Given the description of an element on the screen output the (x, y) to click on. 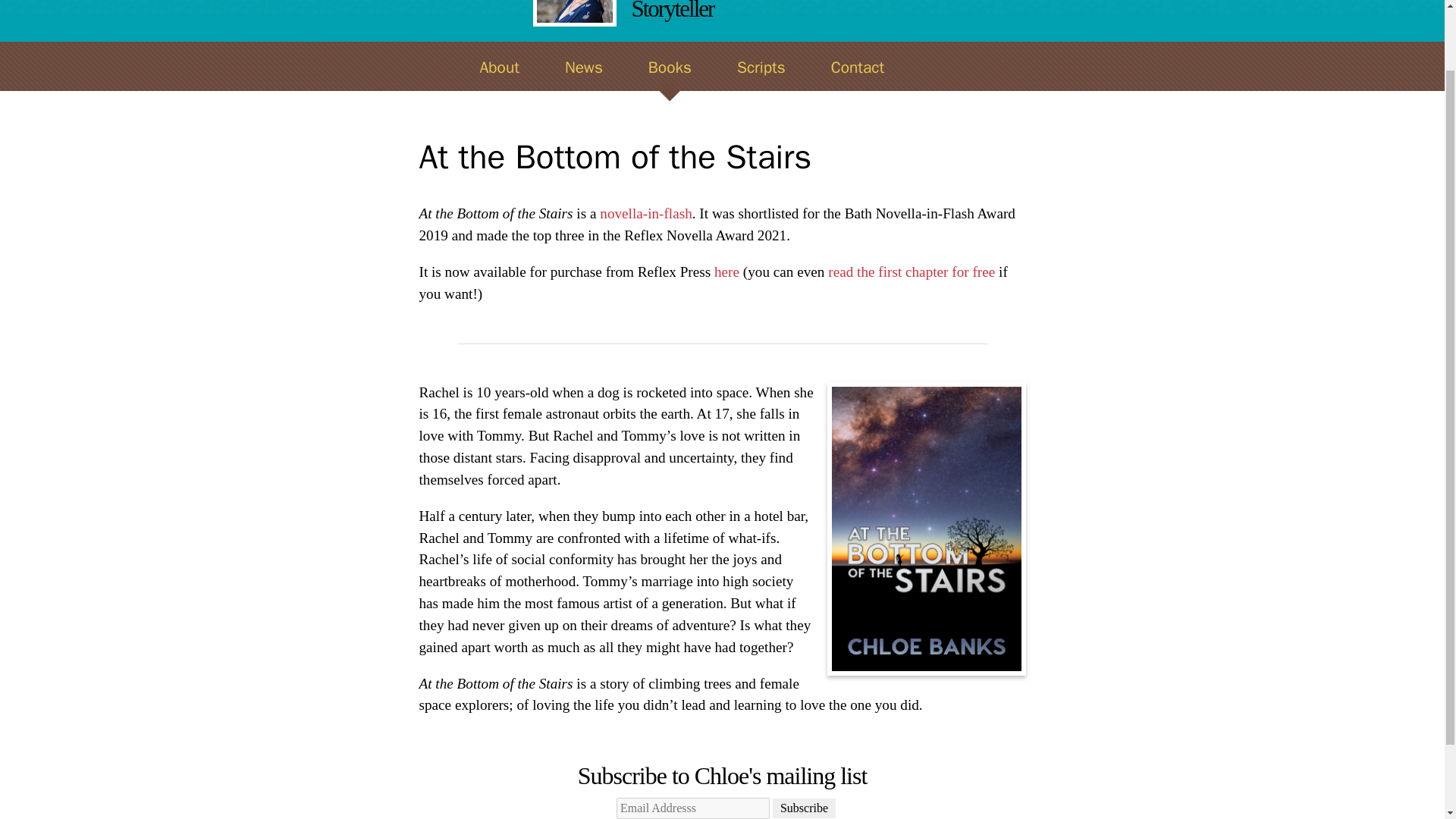
here (726, 271)
Scripts (761, 78)
Subscribe (804, 808)
Subscribe (804, 808)
News (583, 78)
read the first chapter for free (913, 271)
Books (670, 78)
novella-in-flash (645, 213)
About (499, 78)
